Given the description of an element on the screen output the (x, y) to click on. 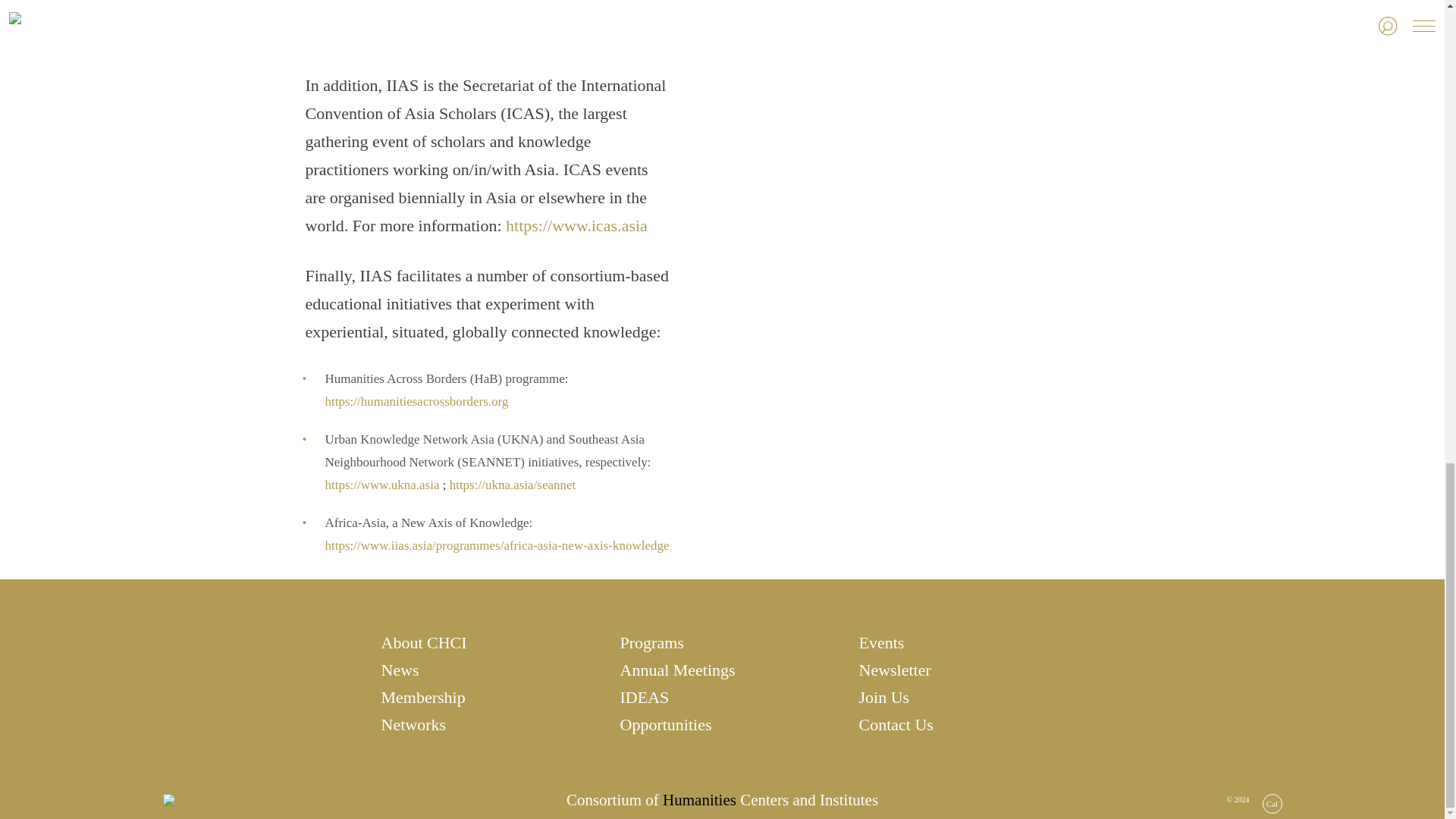
Annual Meetings (722, 670)
Newsletter (960, 670)
Membership (482, 697)
Join Us (960, 697)
Events (960, 642)
Contact Us (960, 724)
Opportunities (722, 724)
News (482, 670)
About CHCI (482, 642)
IDEAS (722, 697)
